Given the description of an element on the screen output the (x, y) to click on. 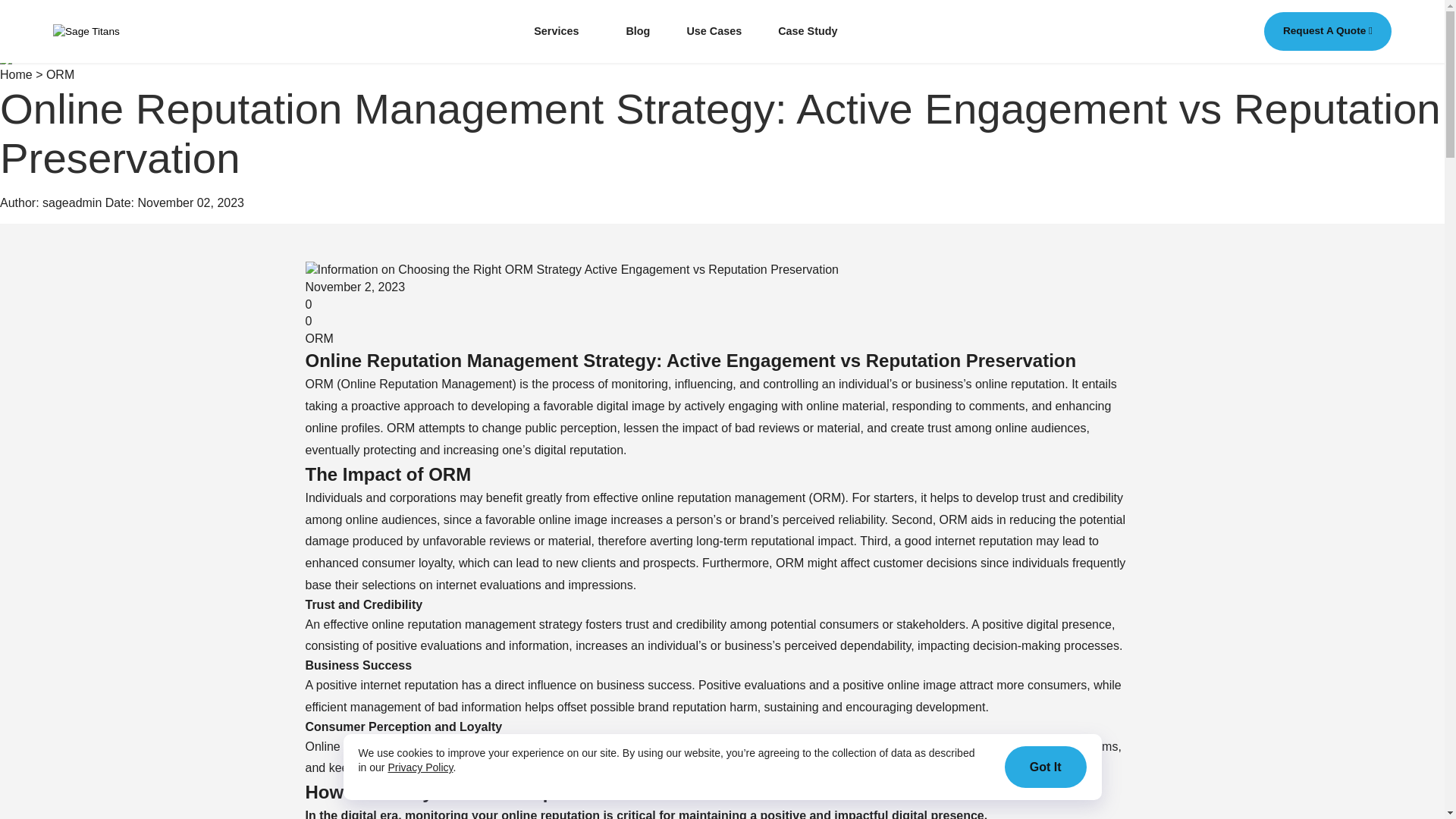
Home (16, 74)
Case Study (807, 30)
Services (561, 30)
Use Cases (713, 30)
ORM (60, 74)
ORM (318, 338)
Blog (637, 30)
